Given the description of an element on the screen output the (x, y) to click on. 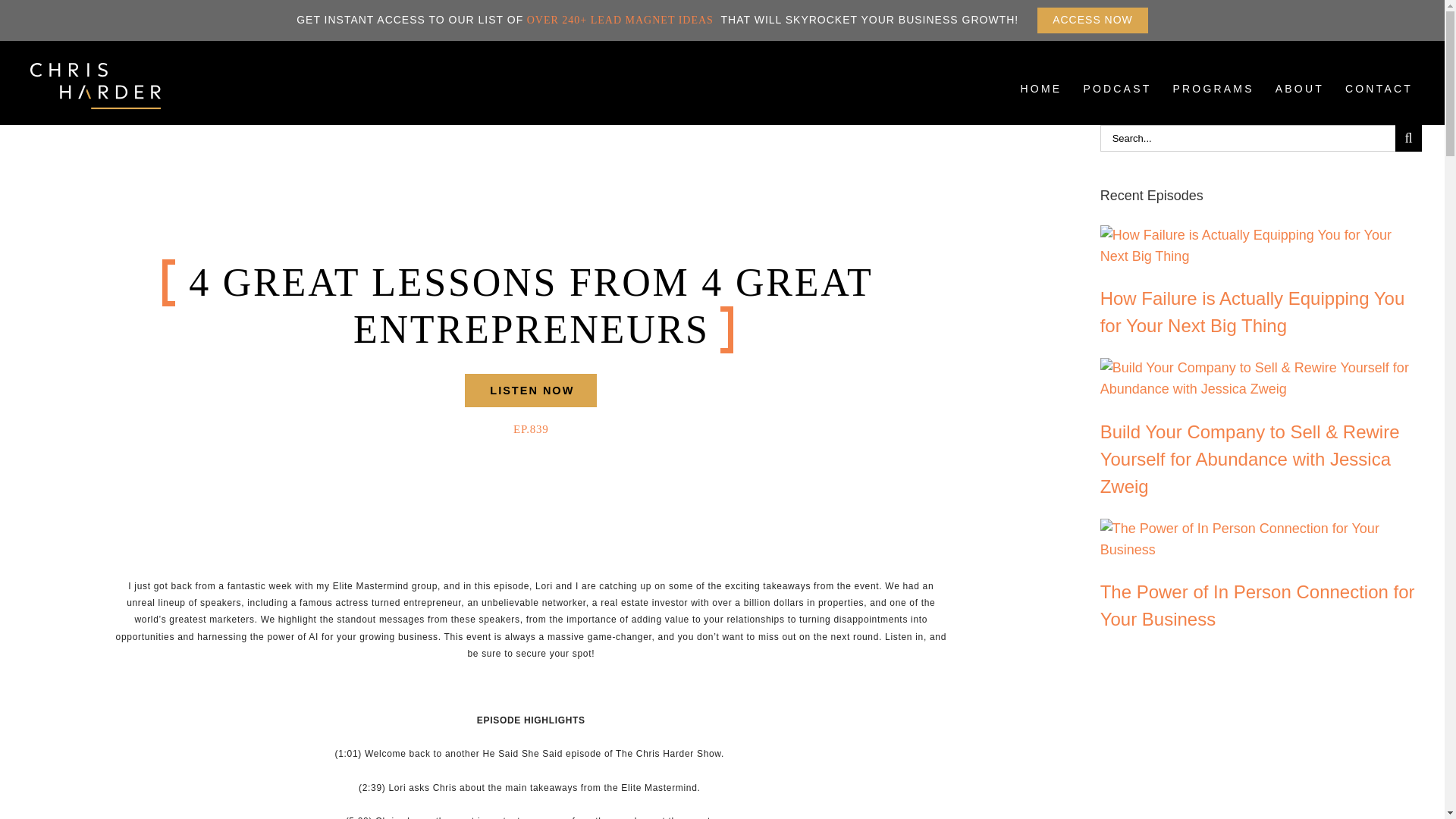
LISTEN NOW (530, 390)
ABOUT (1299, 99)
ACCESS NOW (1092, 20)
CONTACT (1378, 99)
PODCAST (1041, 99)
PROGRAMS (1117, 99)
